Given the description of an element on the screen output the (x, y) to click on. 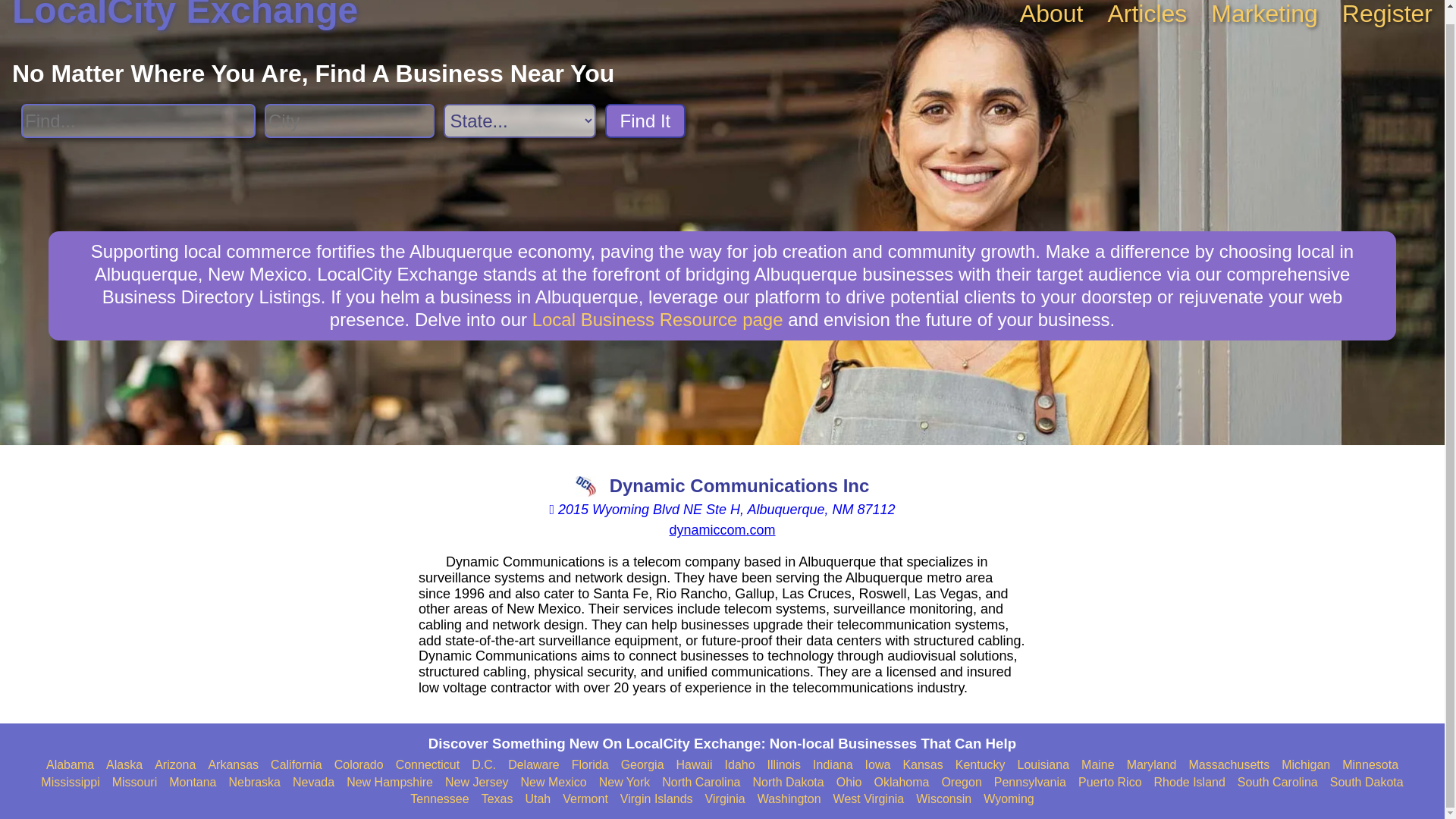
Connecticut (428, 765)
Alaska (124, 765)
Find Businesses in Georgia (642, 765)
Florida (590, 765)
Find Businesses in Hawaii (695, 765)
New Hampshire (389, 782)
Colorado (359, 765)
Find Businesses in Alaska (124, 765)
Nevada (313, 782)
Register (1387, 13)
